Given the description of an element on the screen output the (x, y) to click on. 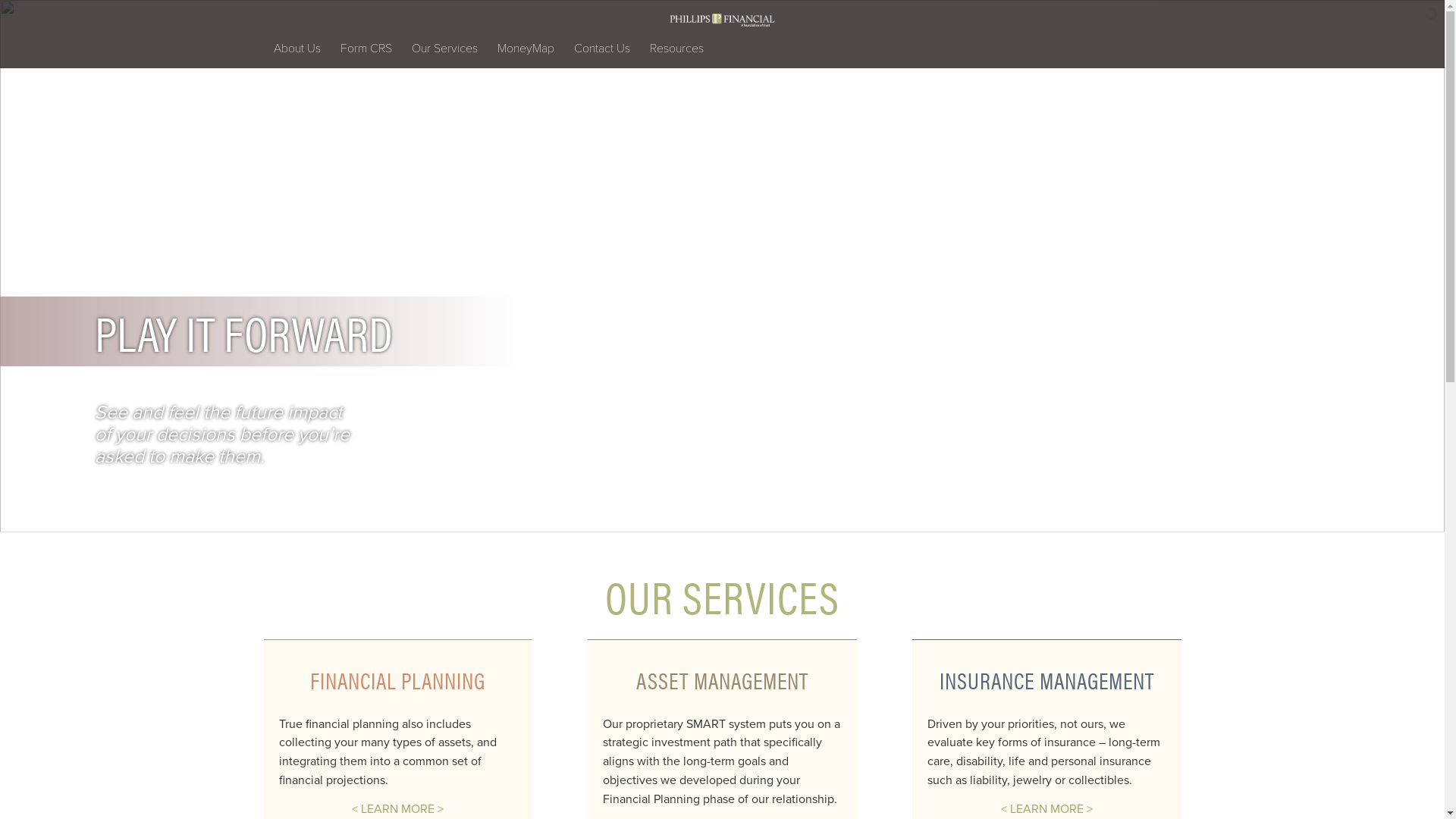
Form CRS Element type: text (365, 47)
About Us Element type: text (296, 47)
MoneyMap Element type: text (524, 47)
Resources Element type: text (676, 47)
Contact Us Element type: text (602, 47)
ASSET MANAGEMENT Element type: text (722, 679)
< LEARN MORE > Element type: text (397, 808)
INSURANCE MANAGEMENT Element type: text (1046, 679)
< LEARN MORE > Element type: text (1046, 808)
Our Services Element type: text (444, 47)
FINANCIAL PLANNING Element type: text (397, 679)
